Given the description of an element on the screen output the (x, y) to click on. 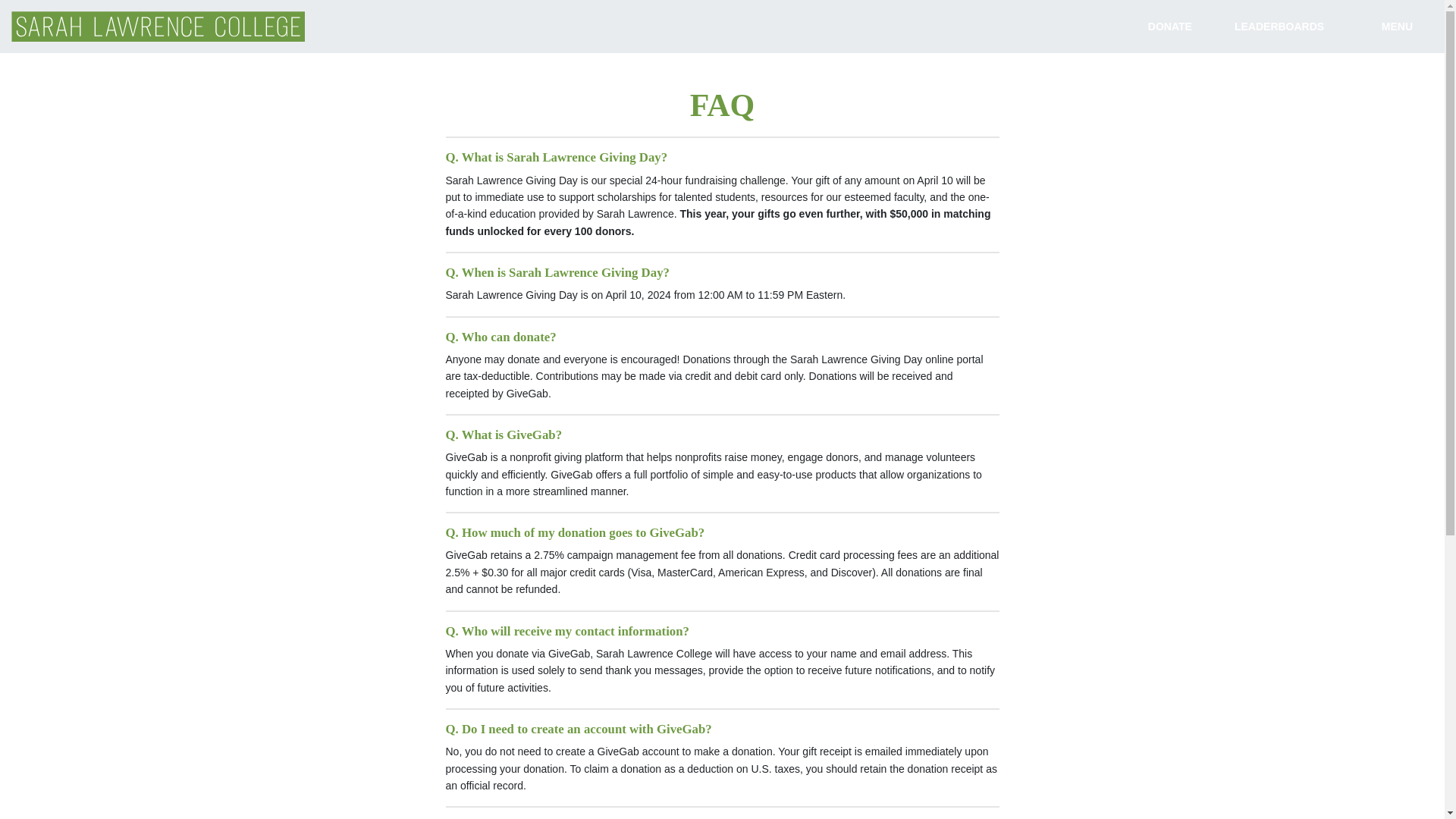
DONATE (1169, 26)
LEADERBOARDS (1279, 26)
